Given the description of an element on the screen output the (x, y) to click on. 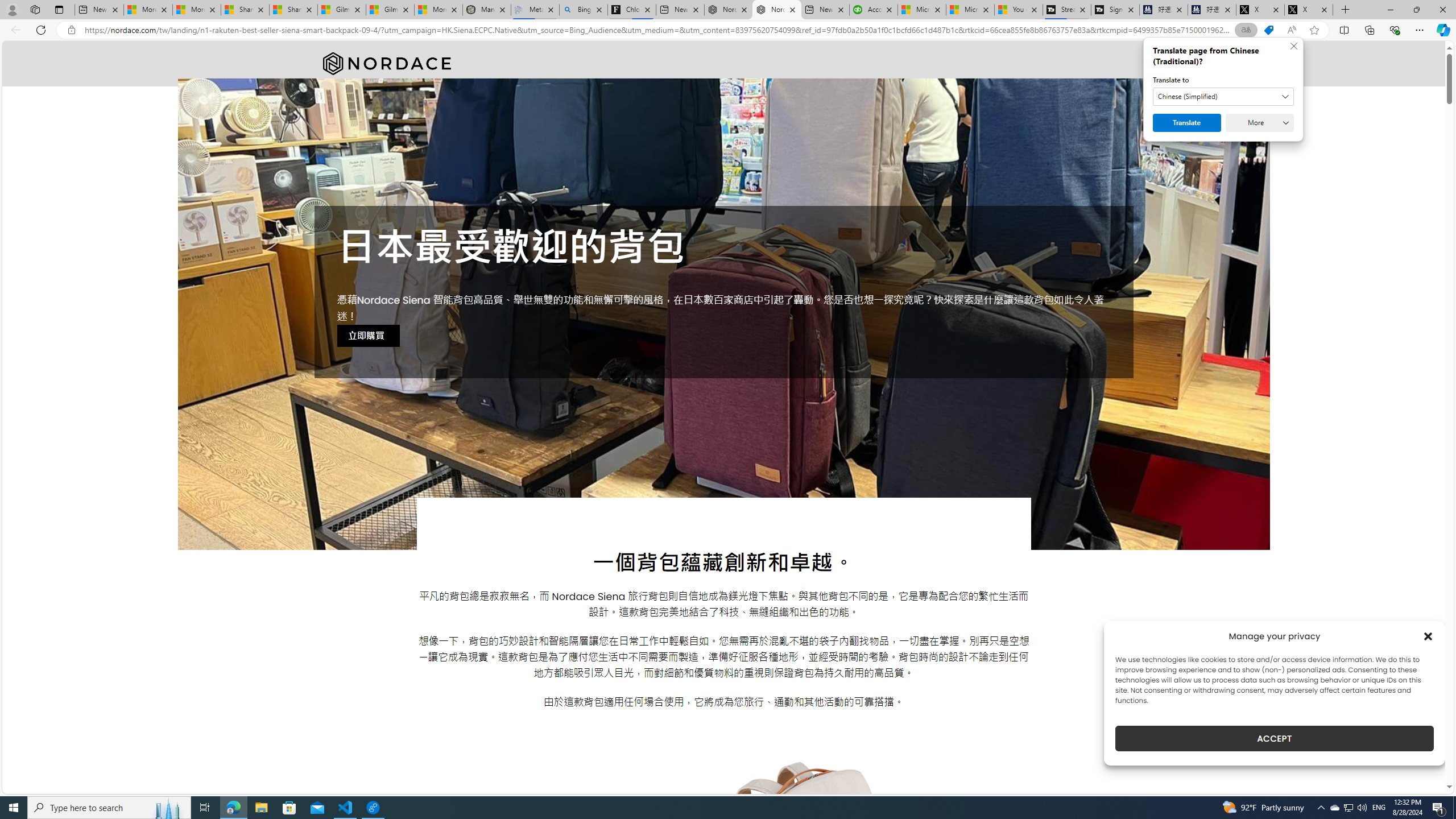
Show translate options (1245, 29)
This site has coupons! Shopping in Microsoft Edge (1268, 29)
Bing Real Estate - Home sales and rental listings (583, 9)
More (1259, 122)
ACCEPT (1274, 738)
